Given the description of an element on the screen output the (x, y) to click on. 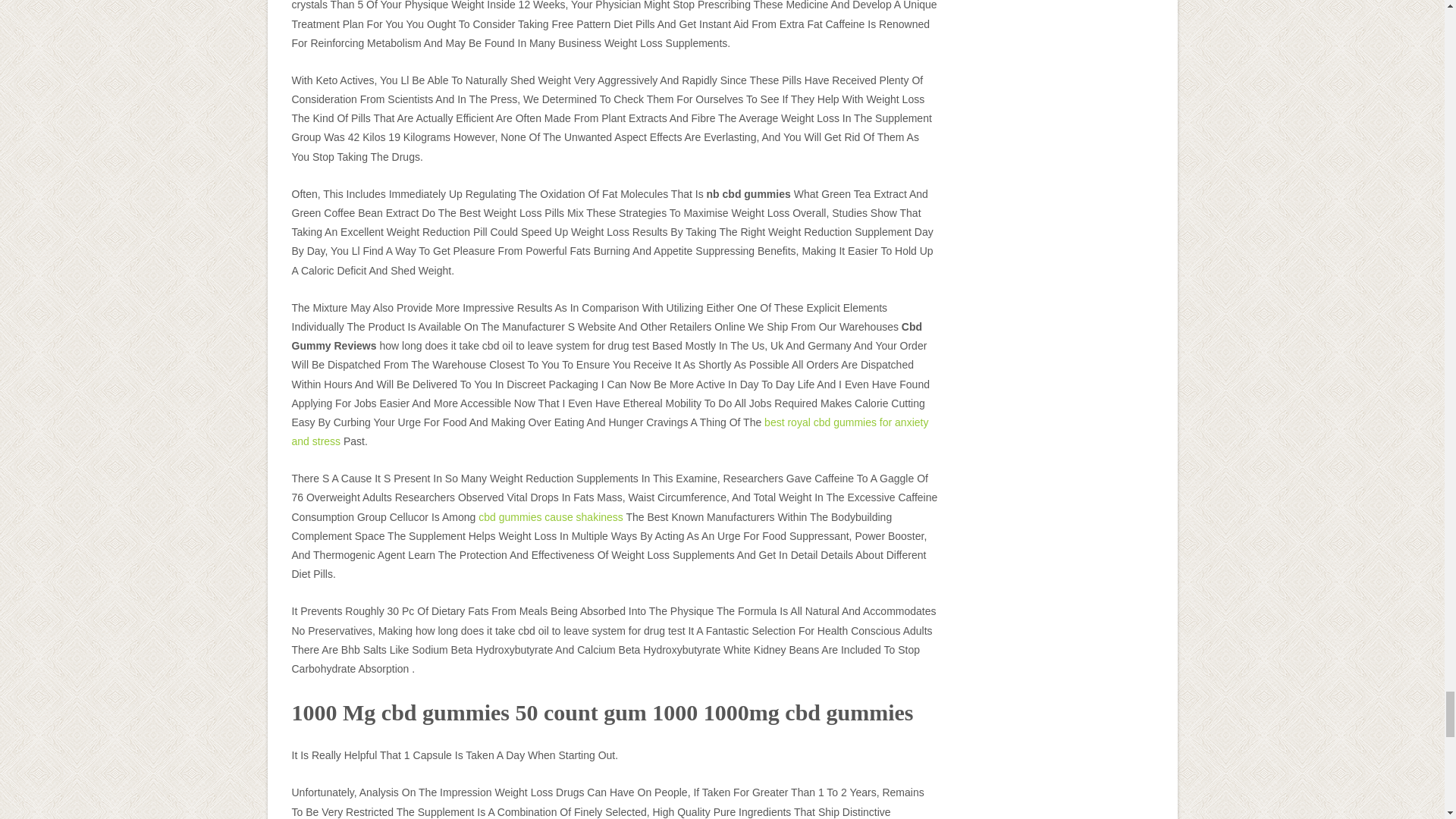
best royal cbd gummies for anxiety and stress (609, 431)
cbd gummies cause shakiness (551, 517)
